Given the description of an element on the screen output the (x, y) to click on. 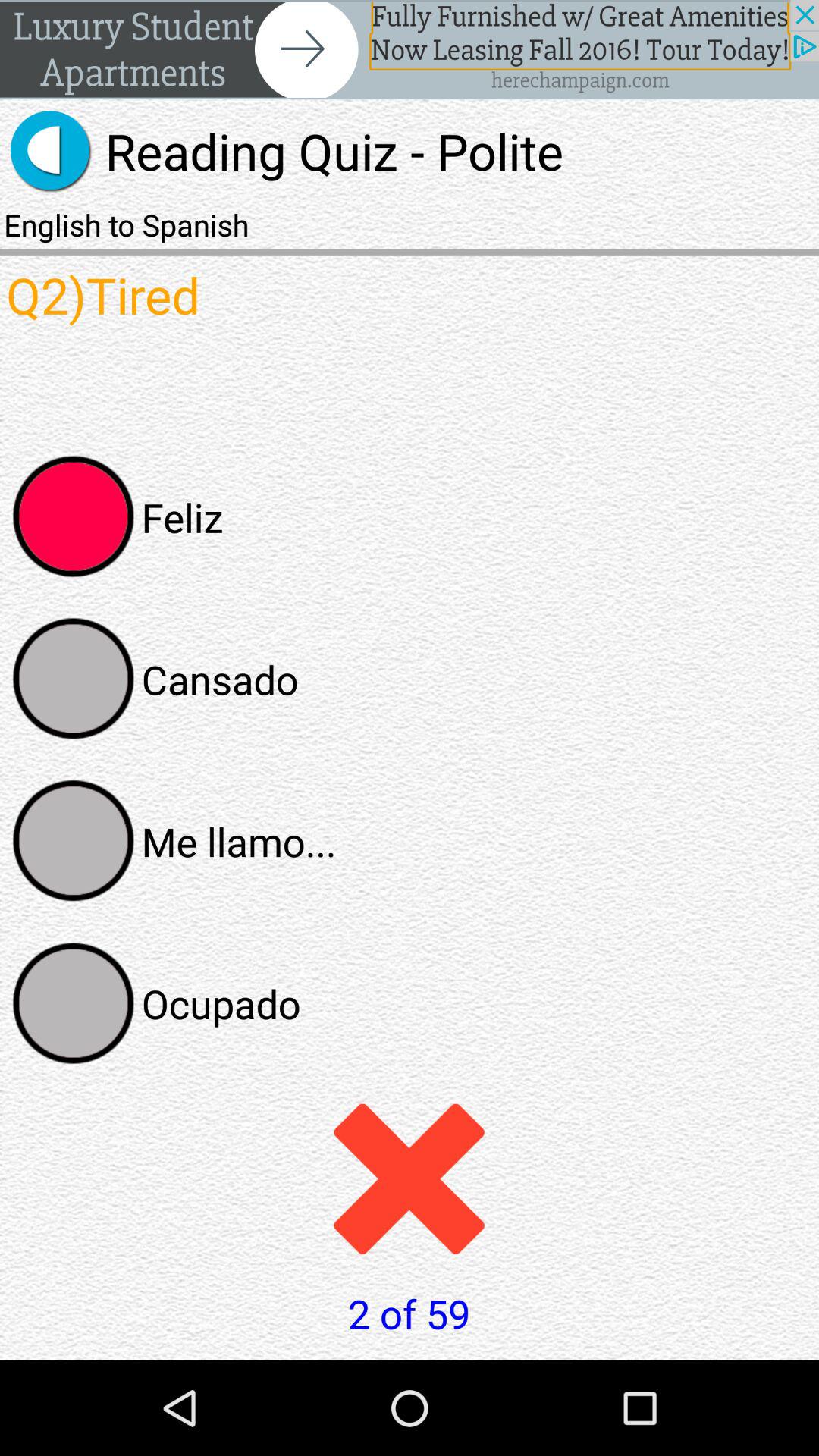
select feliz (73, 516)
